Given the description of an element on the screen output the (x, y) to click on. 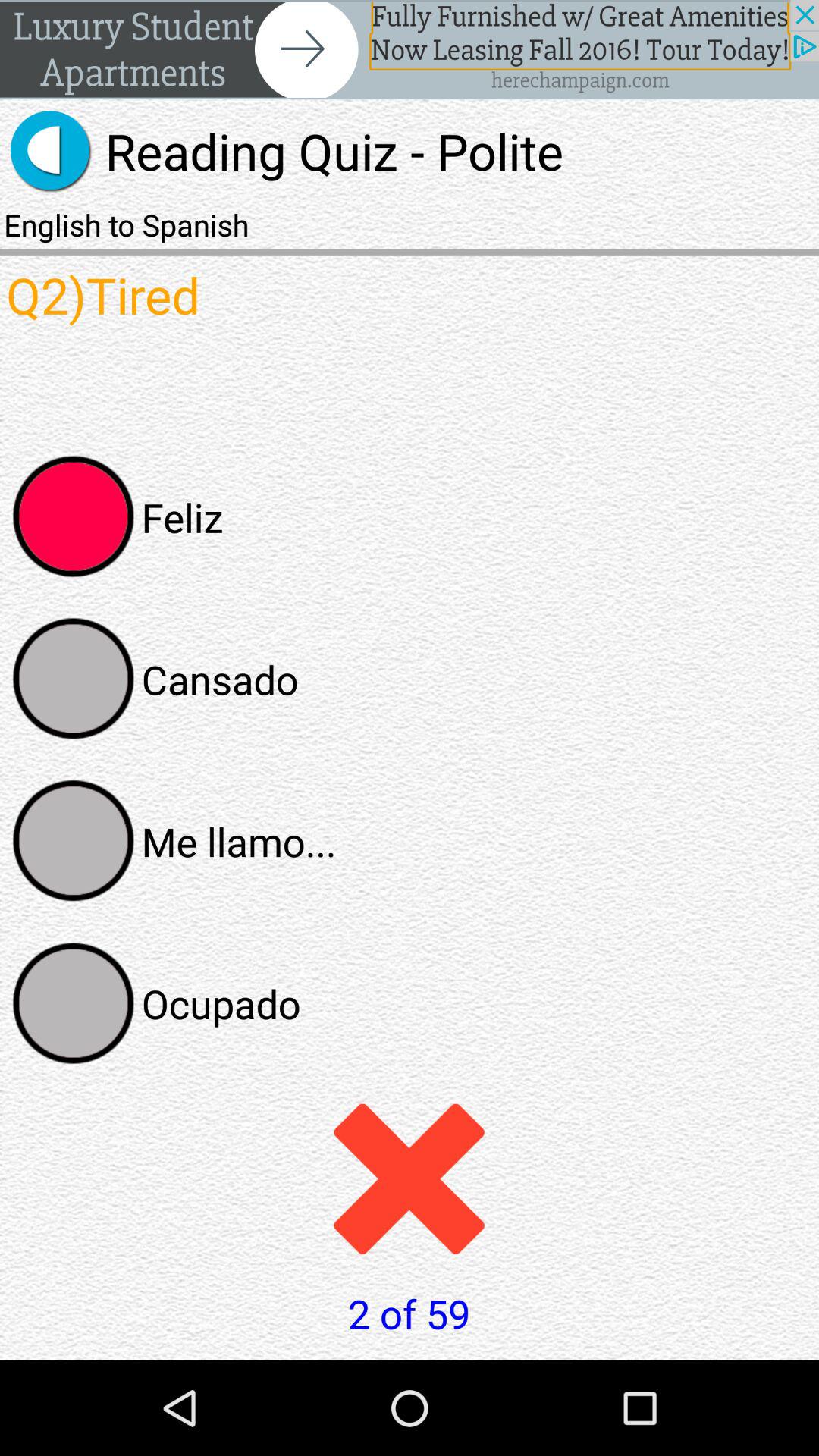
select feliz (73, 516)
